Given the description of an element on the screen output the (x, y) to click on. 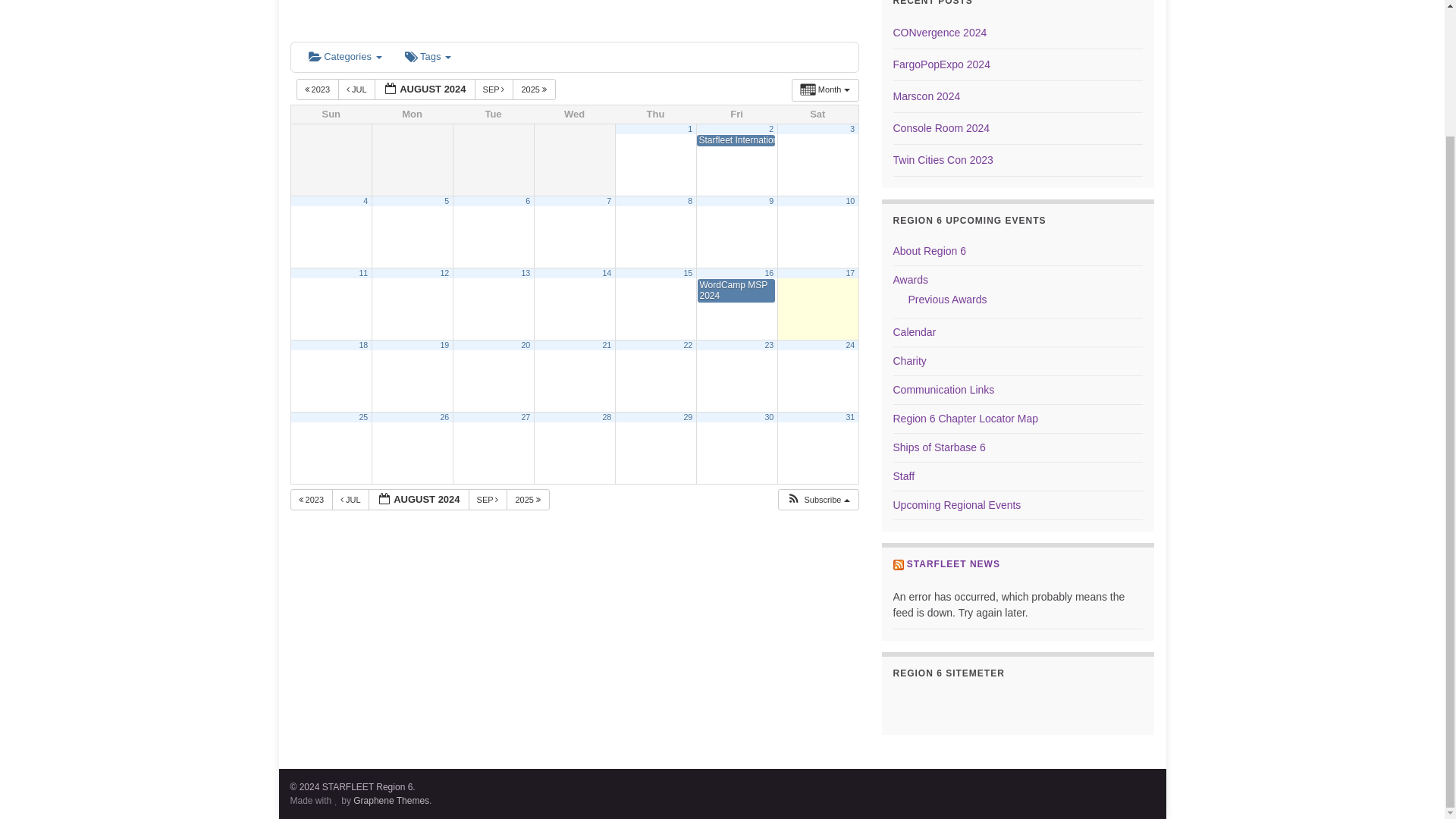
Choose a date using calendar (418, 499)
Tags (428, 57)
2023 (317, 89)
AUGUST 2024 (424, 89)
JUL (356, 89)
SEP (493, 89)
Categories (345, 57)
Month (825, 89)
2025 (534, 89)
